Given the description of an element on the screen output the (x, y) to click on. 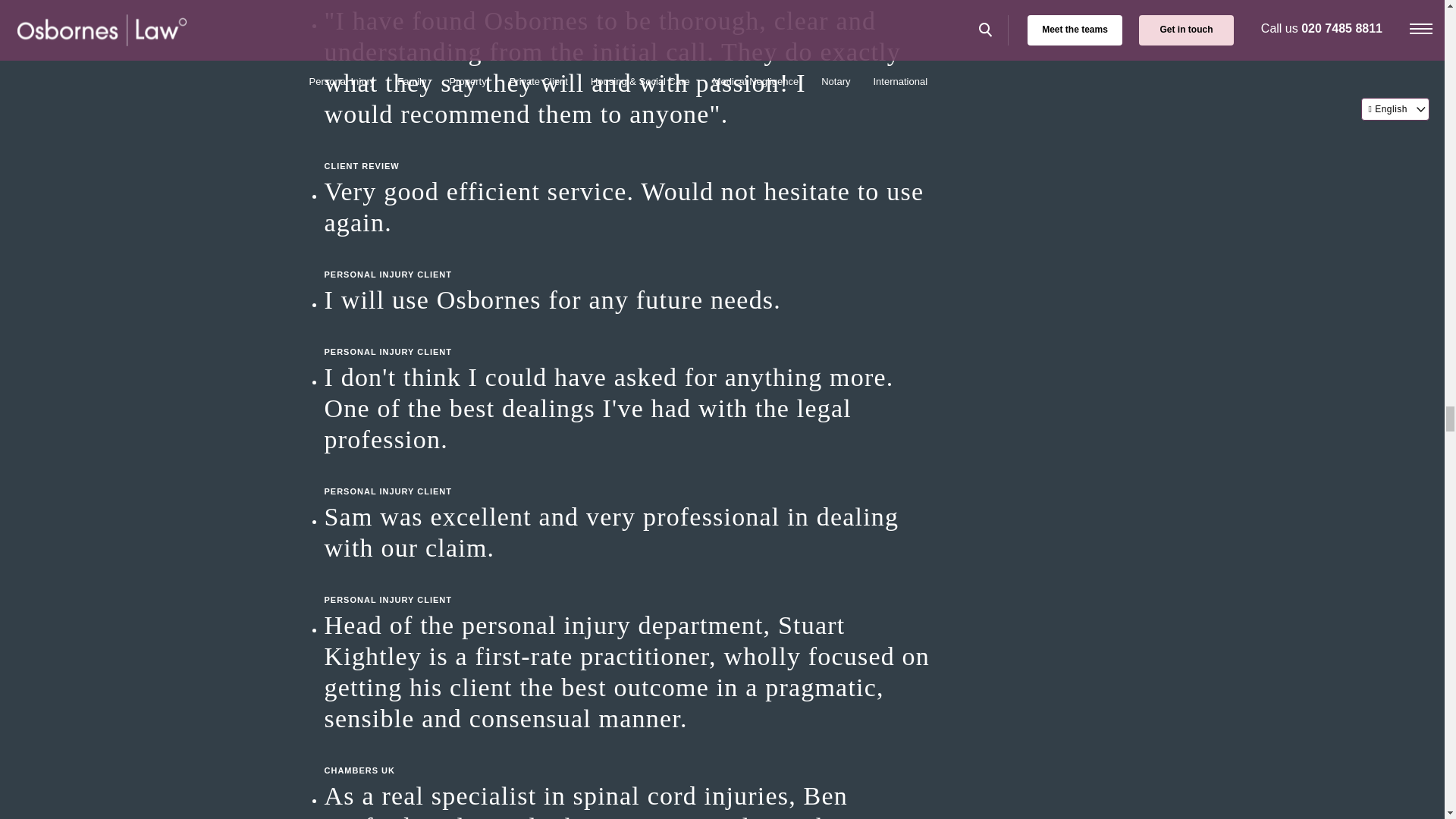
I will use Osbornes for any future needs. (627, 299)
PERSONAL INJURY CLIENT (627, 259)
CLIENT REVIEW (627, 150)
PERSONAL INJURY CLIENT (627, 476)
PERSONAL INJURY CLIENT (627, 336)
CHAMBERS UK (627, 754)
PERSONAL INJURY CLIENT (627, 584)
